Given the description of an element on the screen output the (x, y) to click on. 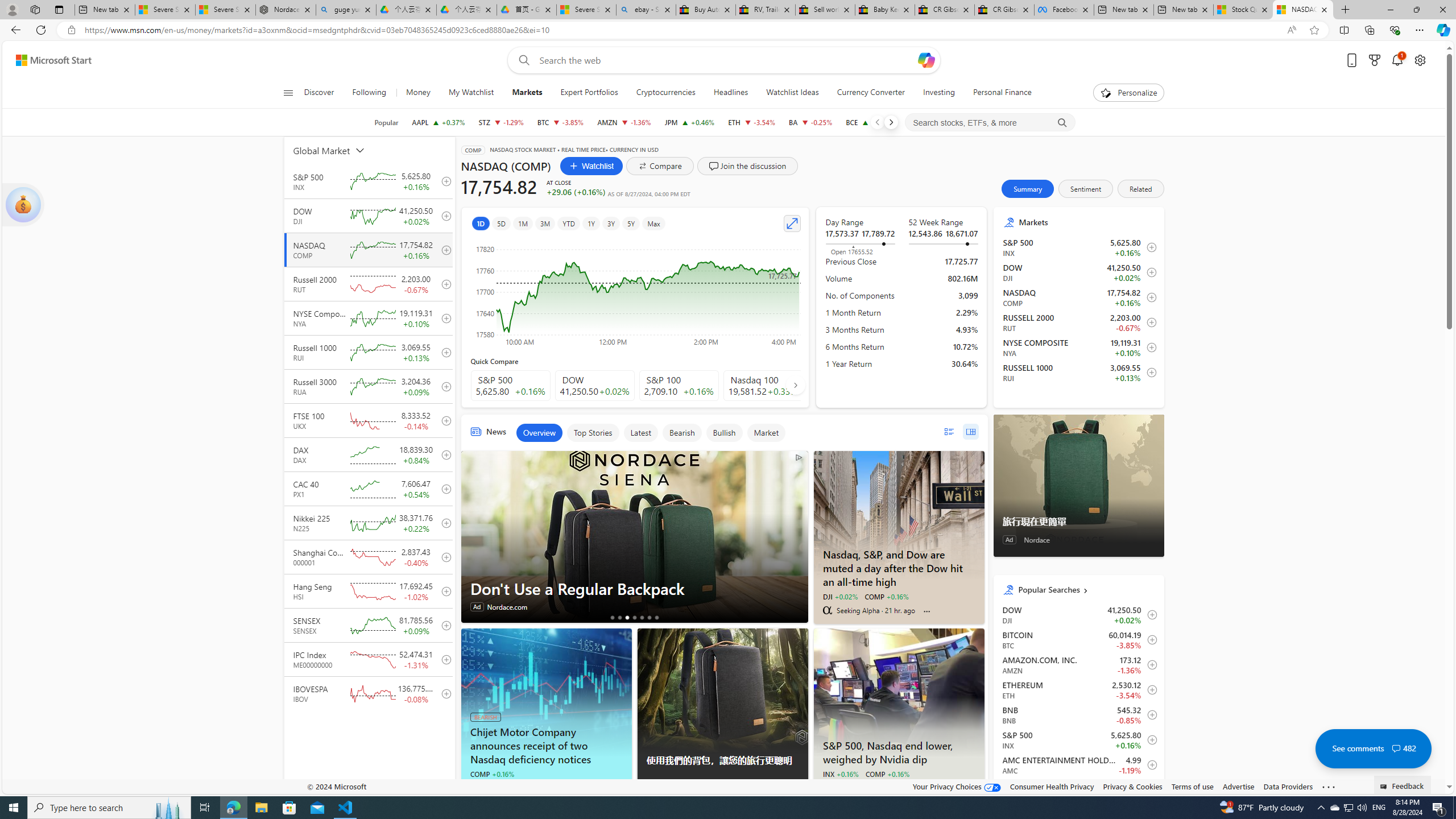
Open navigation menu (287, 92)
Global Market (341, 150)
Class: notInWatclistIcon-DS-EntryPoint1-6 lightTheme (1148, 790)
Baby Keepsakes & Announcements for sale | eBay (885, 9)
Cryptocurrencies (665, 92)
BA THE BOEING COMPANY decrease 173.05 -0.43 -0.25% (810, 122)
DJI DOW increase 41,250.50 +9.98 +0.02% itemundefined (1078, 614)
My Watchlist (471, 92)
See comments 482 (1372, 748)
Latest (640, 432)
Consumer Health Privacy (1051, 785)
Class: notInWatclistIcon-DS-EntryPoint1-5 lightTheme (1148, 372)
